Given the description of an element on the screen output the (x, y) to click on. 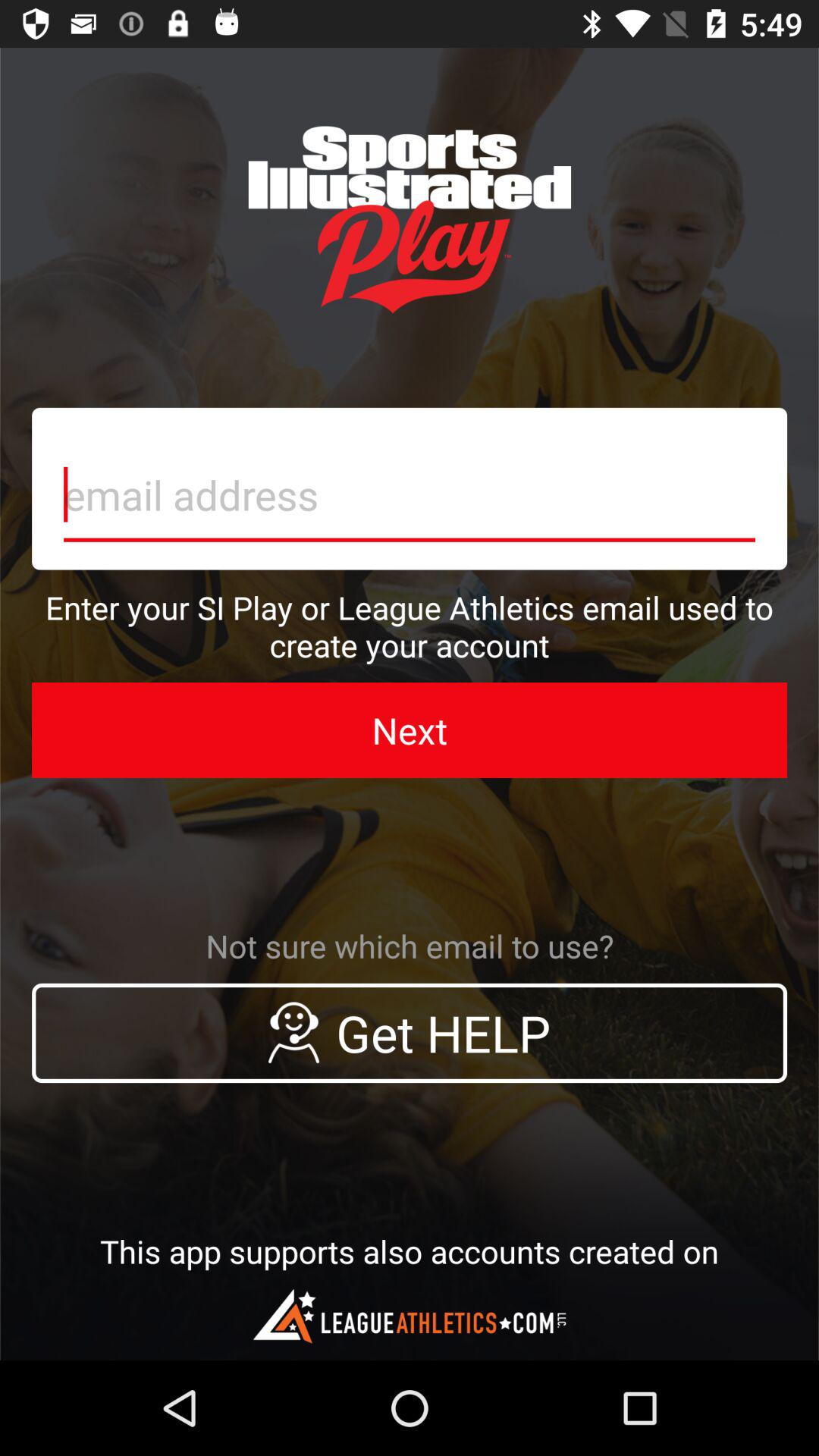
tap the item below the enter your si (409, 730)
